Given the description of an element on the screen output the (x, y) to click on. 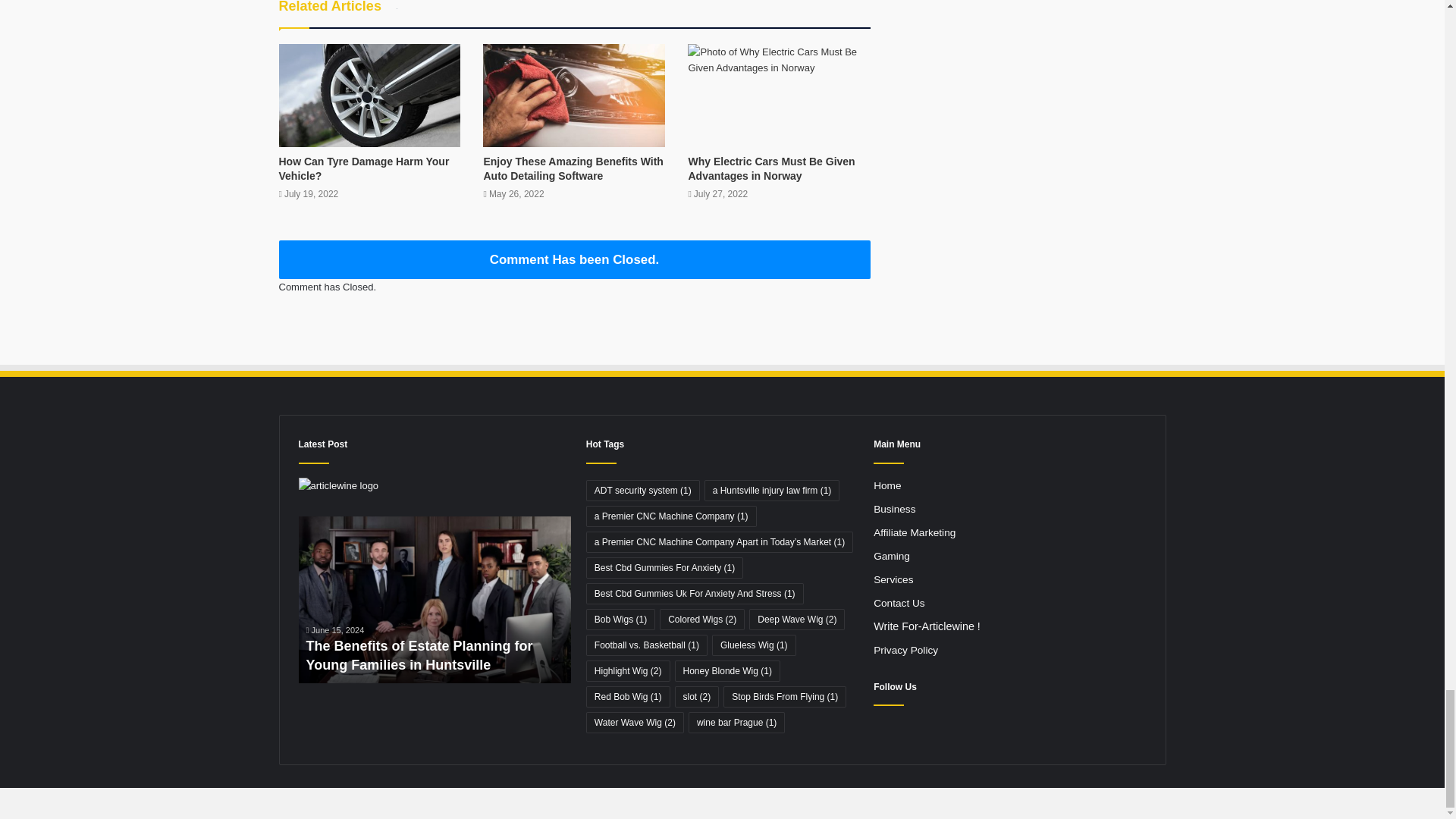
How Can Tyre Damage Harm Your Vehicle? (364, 168)
Enjoy These Amazing Benefits With Auto Detailing Software (572, 168)
Why Electric Cars Must Be Given Advantages in Norway (770, 168)
Comment Has been Closed. (574, 259)
